Given the description of an element on the screen output the (x, y) to click on. 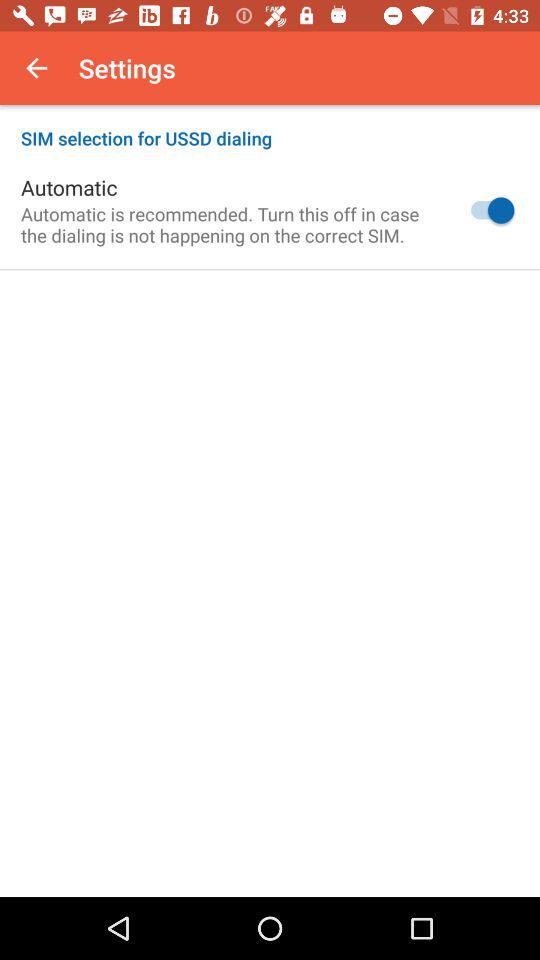
turn on the item next to the automatic is recommended item (487, 210)
